Given the description of an element on the screen output the (x, y) to click on. 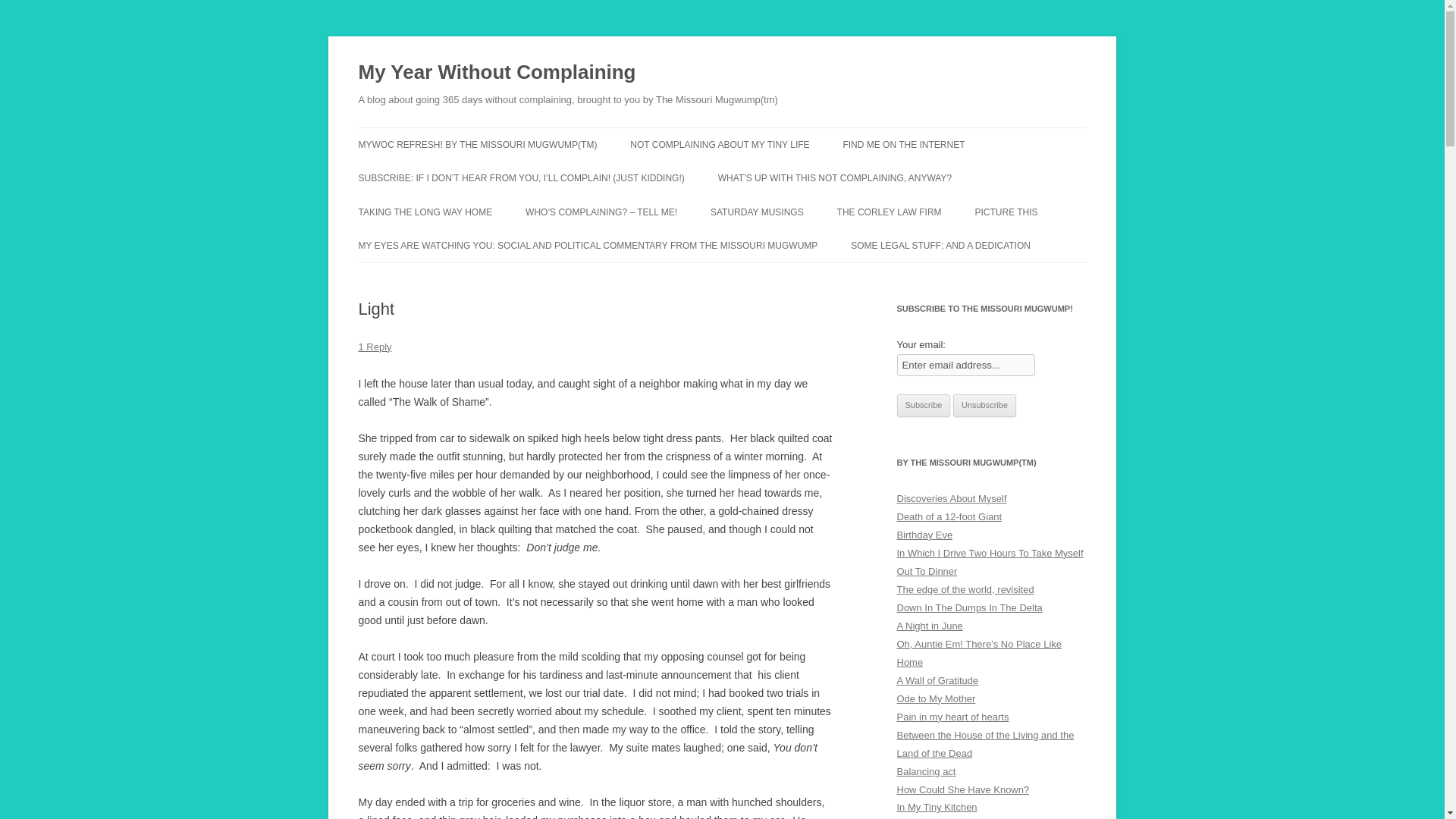
1 Reply (374, 346)
My Year Without Complaining (496, 72)
A Night in June (929, 625)
Death of a 12-foot Giant (948, 516)
SOME LEGAL STUFF; AND A DEDICATION (940, 245)
A Wall of Gratitude (937, 680)
Ode to My Mother (935, 698)
Unsubscribe (984, 404)
Subscribe (923, 404)
PICTURE THIS (1005, 212)
THE CORLEY LAW FIRM (889, 212)
FIND ME ON THE INTERNET (903, 144)
SATURDAY MUSINGS (756, 212)
